Given the description of an element on the screen output the (x, y) to click on. 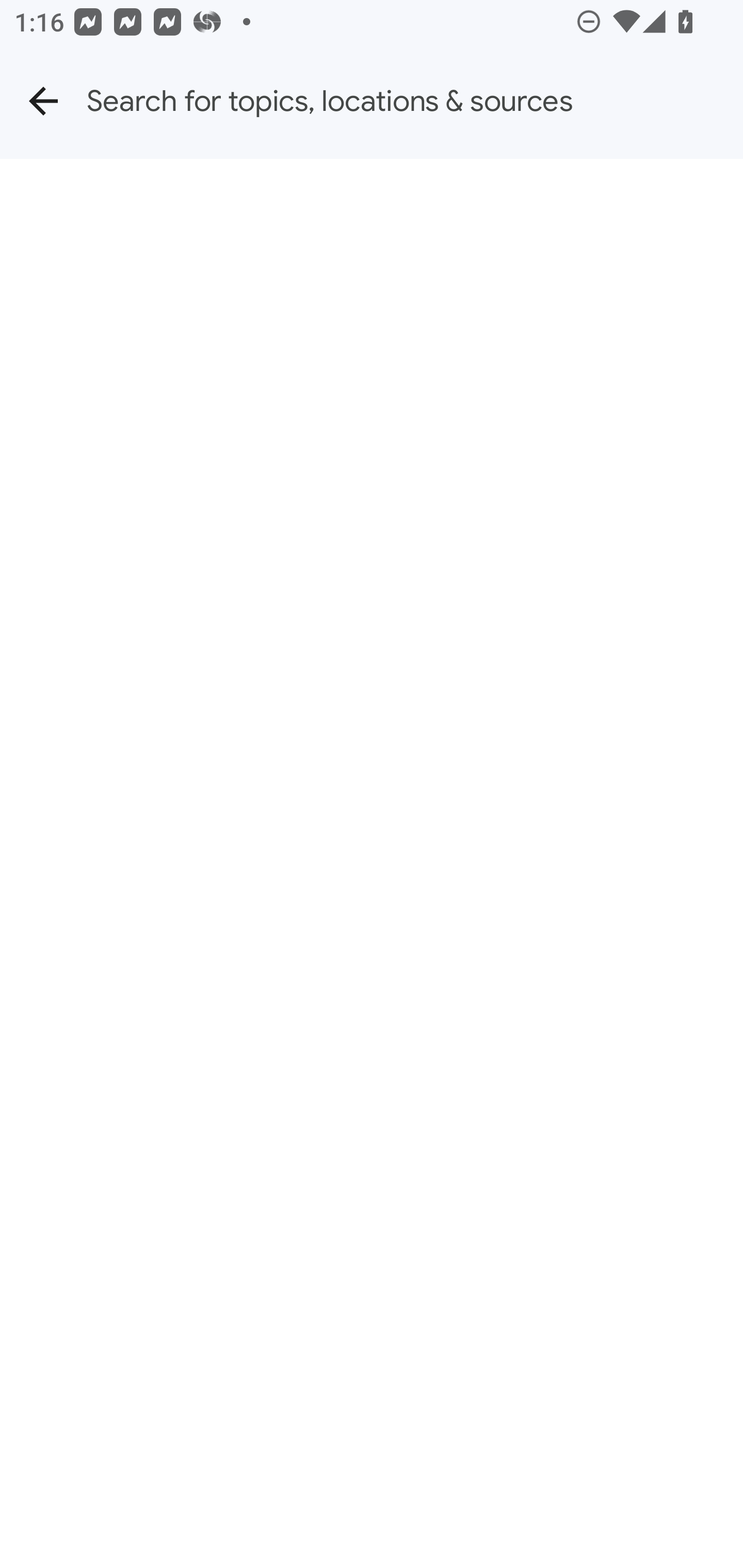
Back (43, 101)
Search for topics, locations & sources (414, 101)
